Given the description of an element on the screen output the (x, y) to click on. 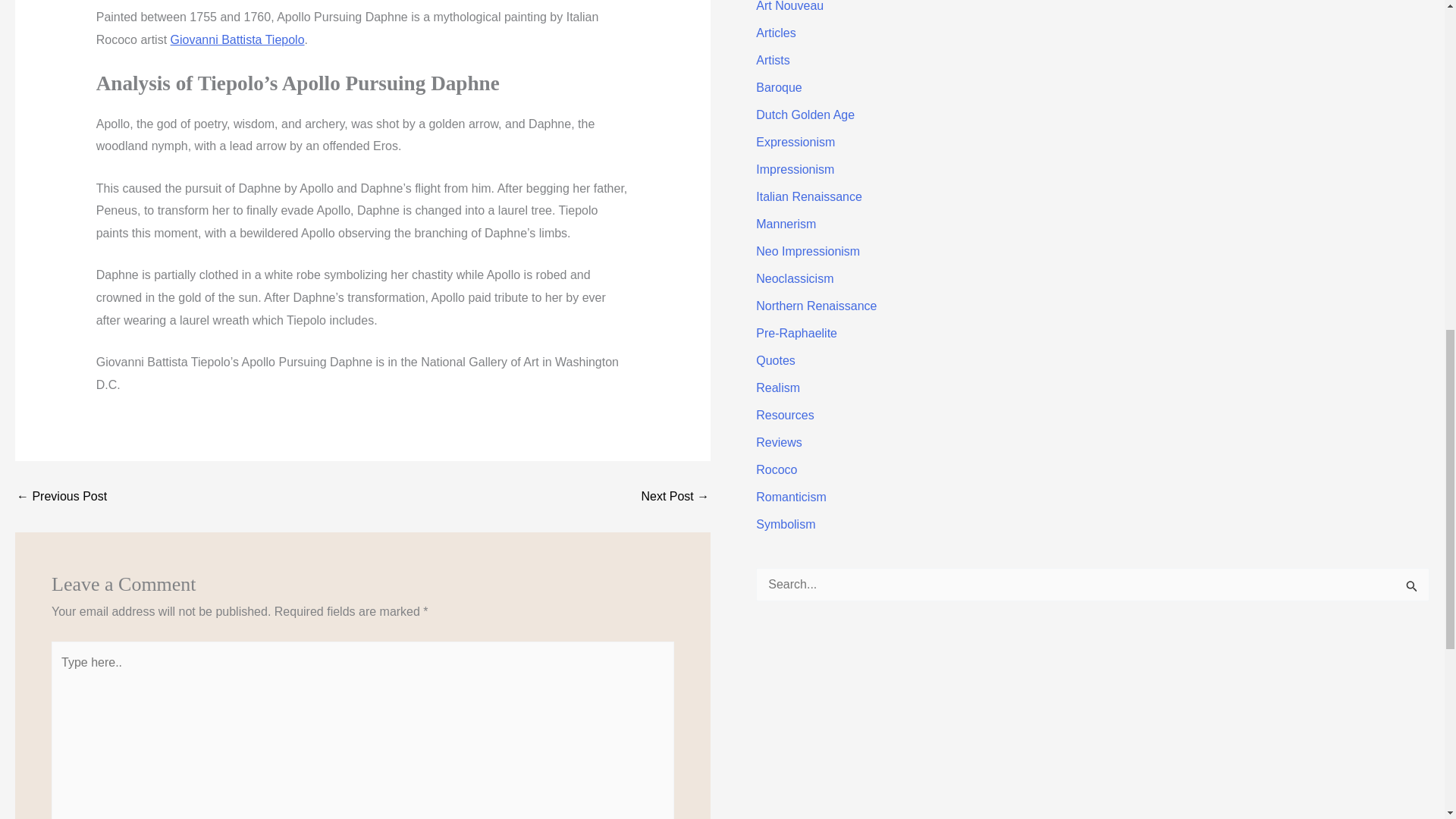
Giovanni Battista Tiepolo (237, 39)
The Artist's Family: Pierre-Auguste Renoir (674, 496)
The Cheat with the Ace of Clubs: Georges de la Tour (61, 496)
